Given the description of an element on the screen output the (x, y) to click on. 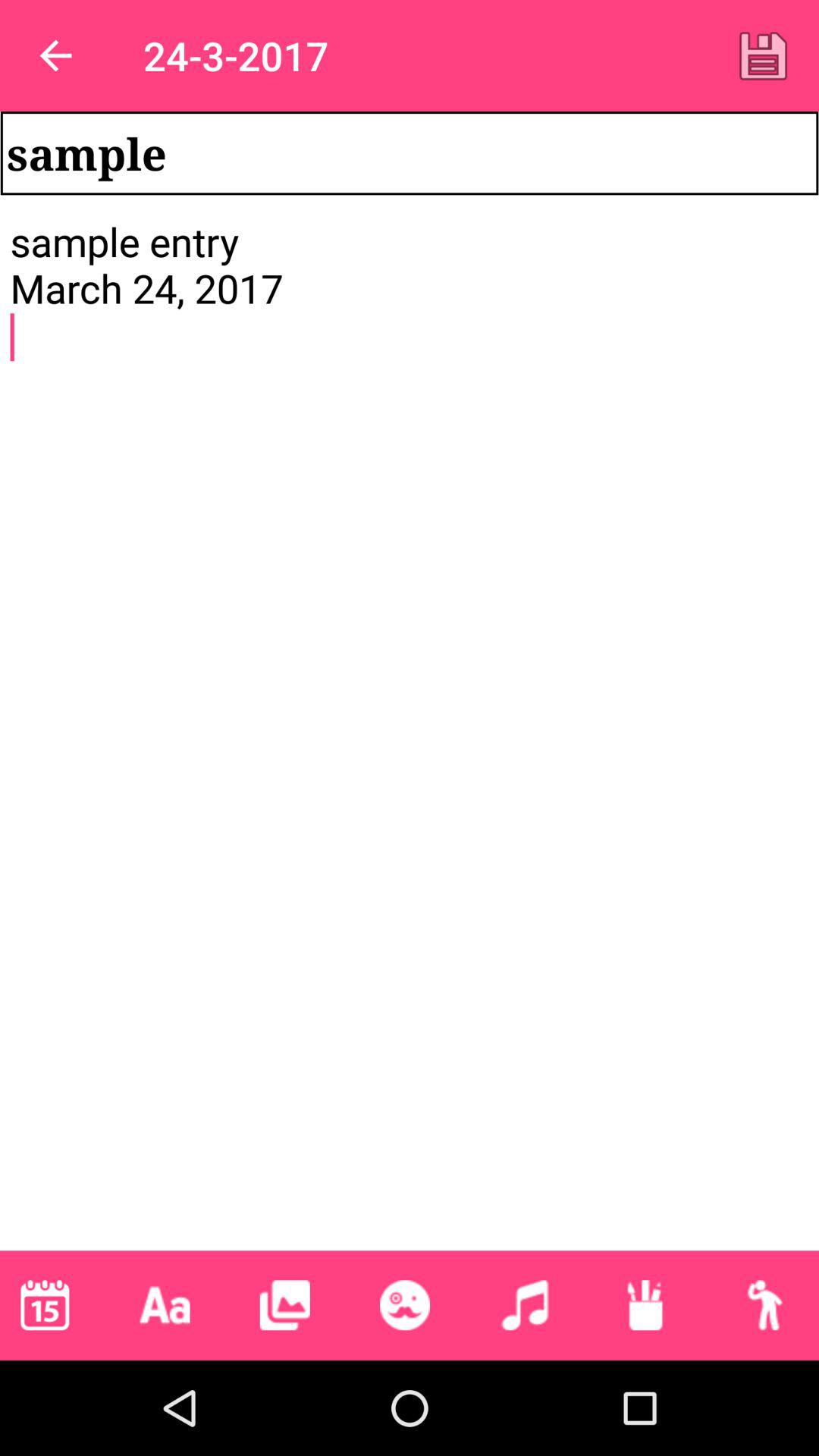
launch the icon next to 24-3-2017 app (763, 55)
